Given the description of an element on the screen output the (x, y) to click on. 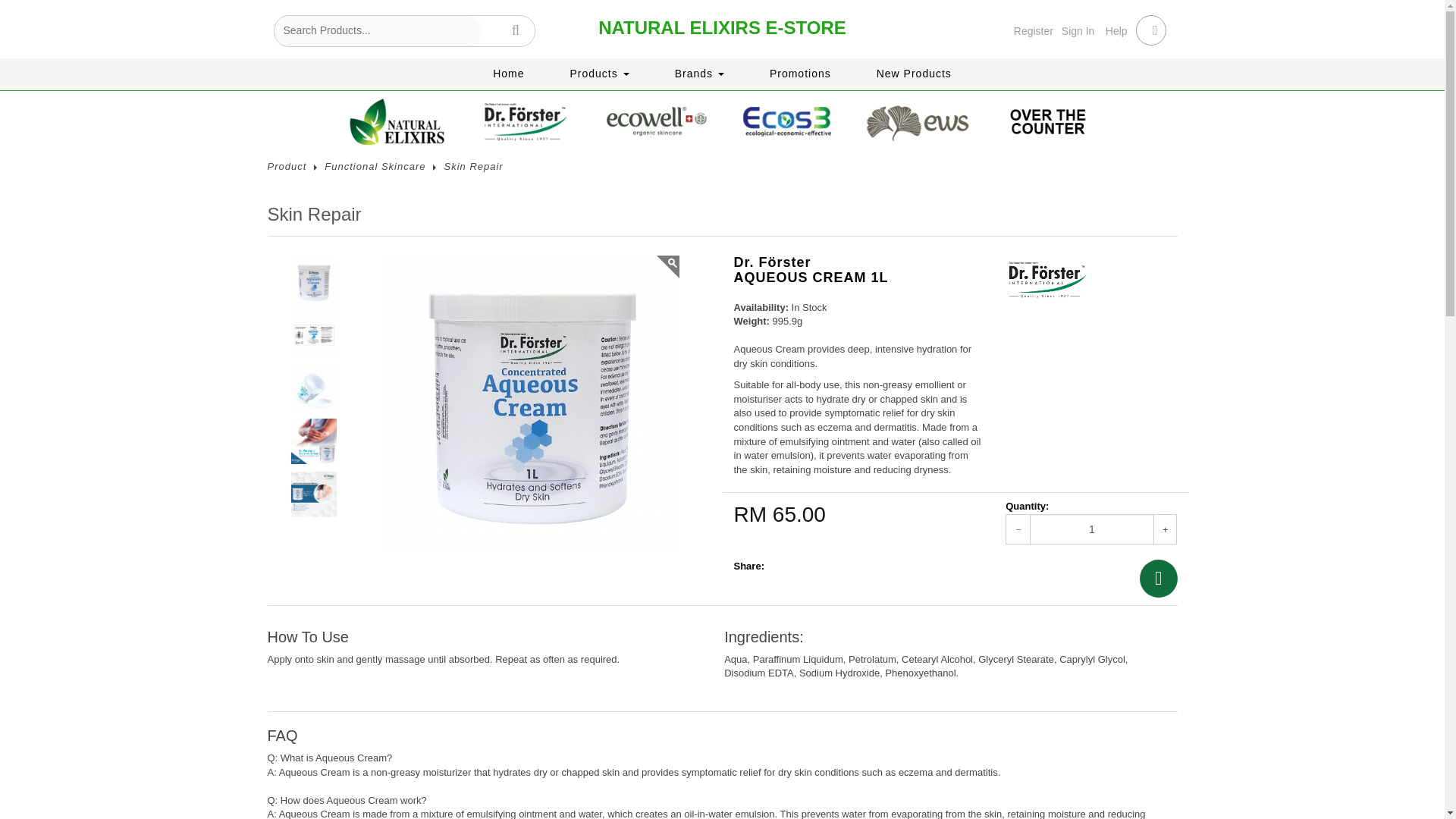
Help (1115, 30)
NATURAL ELIXIRS E-STORE (721, 27)
Register (1032, 30)
Sign In (1077, 30)
New Products (913, 71)
Home (508, 71)
Brands (699, 71)
Promotions (799, 71)
Products (599, 71)
1 (1091, 529)
